Given the description of an element on the screen output the (x, y) to click on. 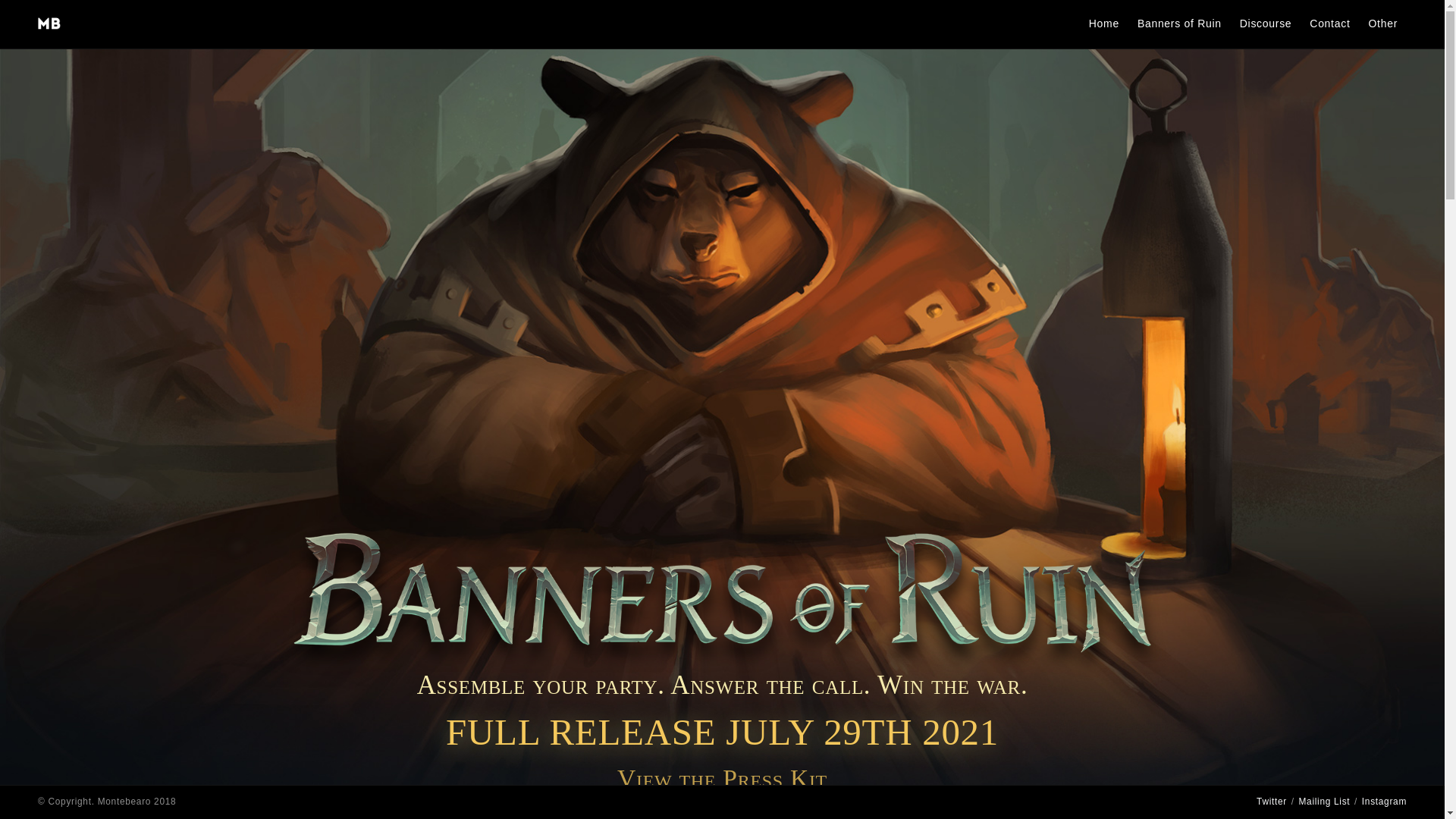
Instagram (1383, 801)
FULL RELEASE JULY 29TH 2021 (721, 731)
Discourse (1265, 24)
Other (1382, 24)
Twitter (1271, 801)
Home (1104, 24)
Contact (1329, 24)
Banners of Ruin (1179, 24)
Mailing List (1323, 801)
View the Press Kit (722, 778)
